Given the description of an element on the screen output the (x, y) to click on. 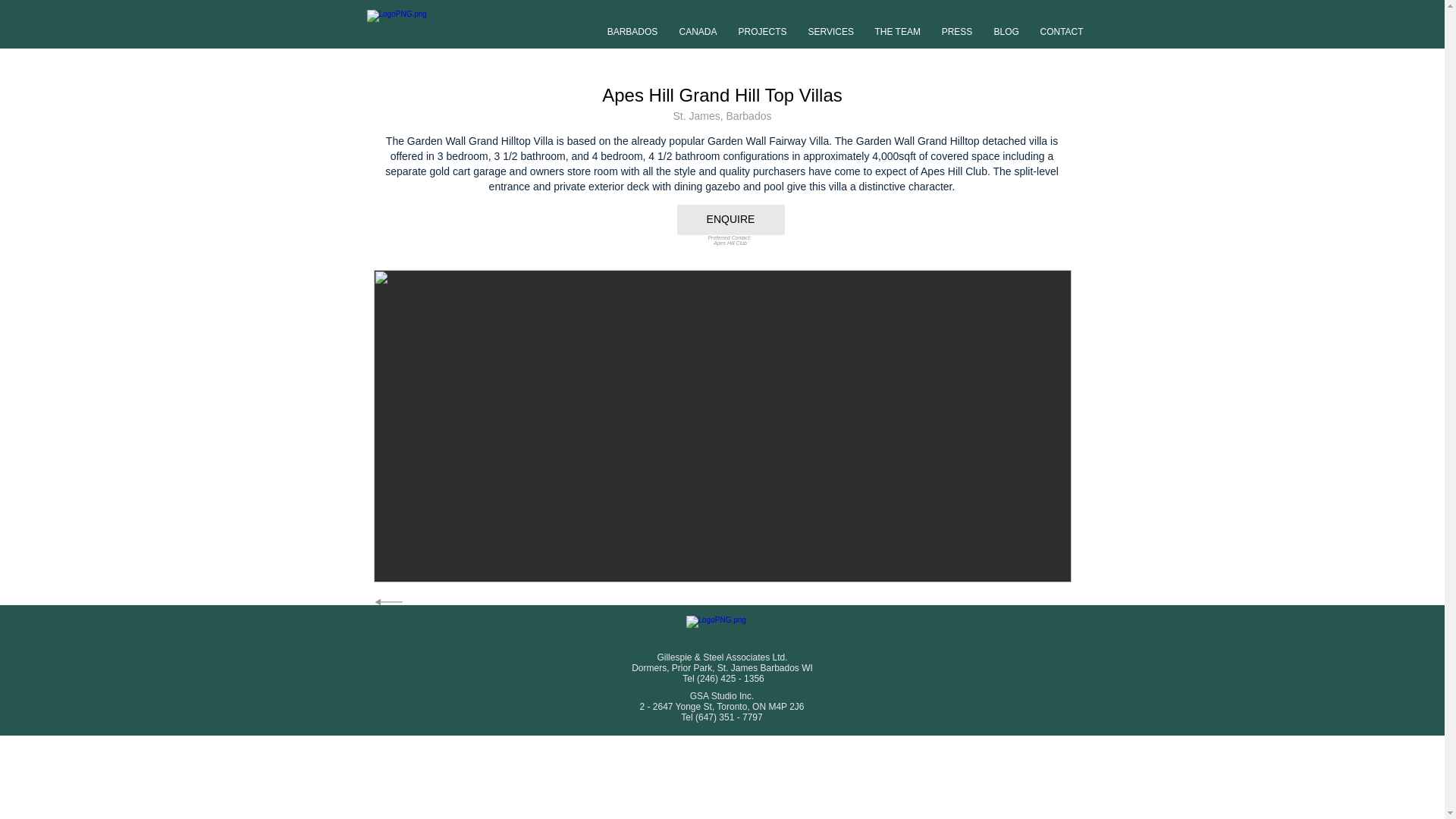
BARBADOS (631, 24)
CANADA (698, 24)
PRESS (957, 24)
BLOG (1005, 24)
CONTACT (1061, 24)
SERVICES (830, 24)
ENQUIRE (730, 219)
PROJECTS (762, 24)
